Given the description of an element on the screen output the (x, y) to click on. 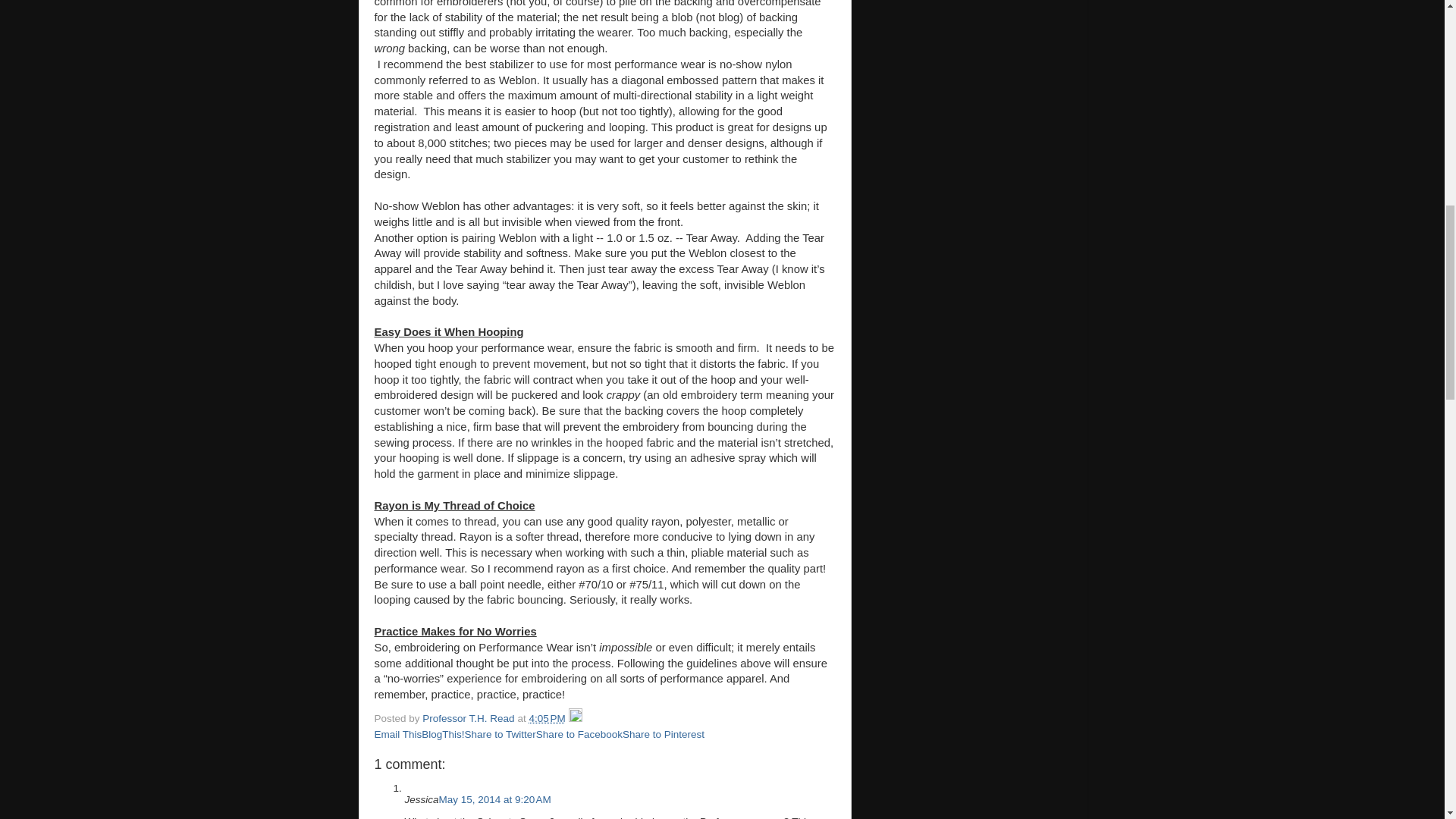
Share to Pinterest (663, 734)
Professor T.H. Read (469, 717)
Share to Twitter (499, 734)
Share to Facebook (579, 734)
Edit Post (575, 717)
Share to Twitter (499, 734)
permanent link (546, 717)
Share to Pinterest (663, 734)
BlogThis! (443, 734)
BlogThis! (443, 734)
Share to Facebook (579, 734)
Email This (398, 734)
author profile (469, 717)
